Given the description of an element on the screen output the (x, y) to click on. 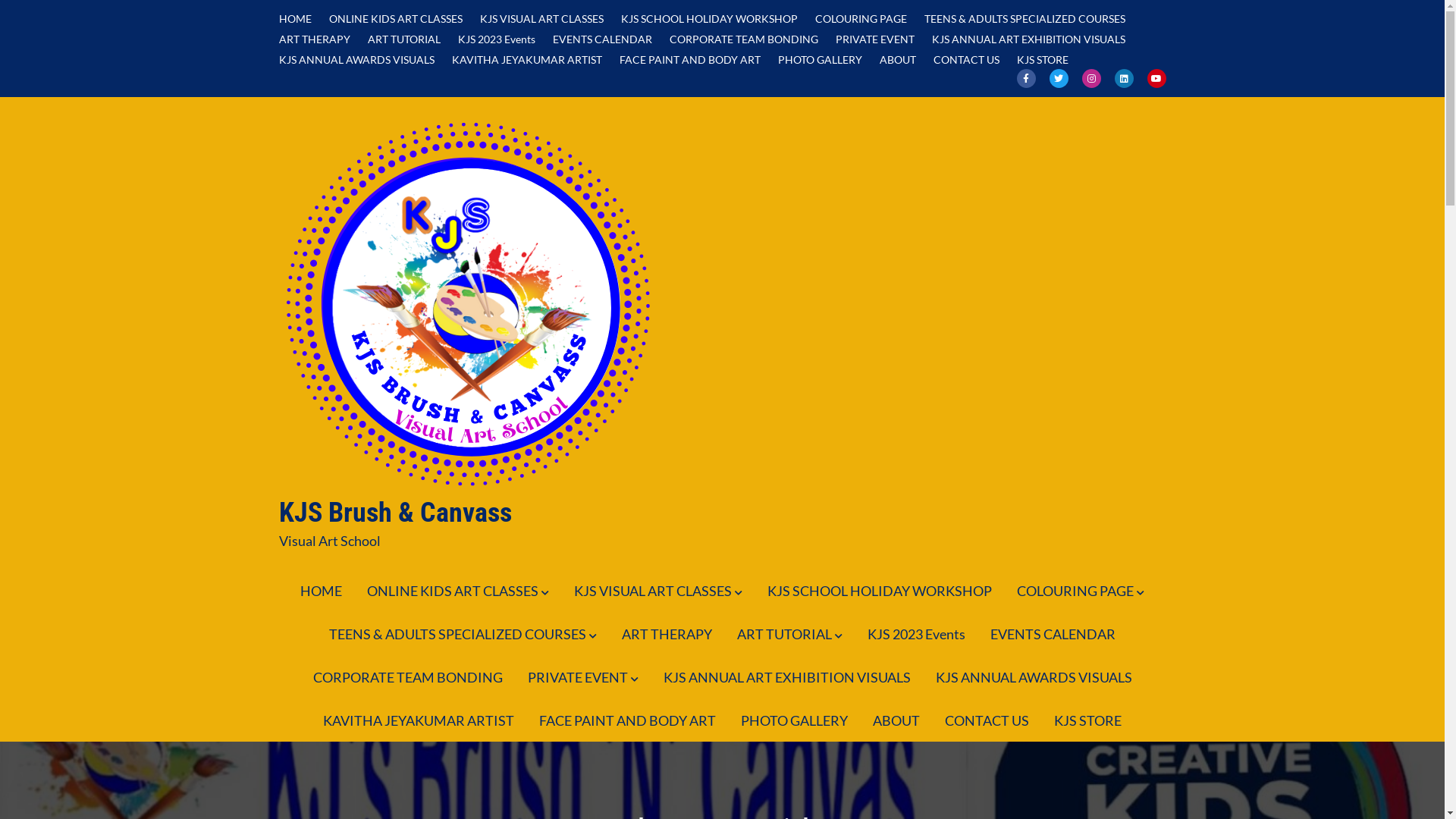
PRIVATE EVENT Element type: text (582, 677)
ART THERAPY Element type: text (666, 634)
KJS 2023 Events Element type: text (496, 39)
KJS VISUAL ART CLASSES Element type: text (657, 591)
HOME Element type: text (295, 18)
COLOURING PAGE Element type: text (860, 18)
KJS VISUAL ART CLASSES Element type: text (540, 18)
KJS ANNUAL AWARDS VISUALS Element type: text (356, 59)
KAVITHA JEYAKUMAR ARTIST Element type: text (418, 720)
PHOTO GALLERY Element type: text (820, 59)
KJS ANNUAL ART EXHIBITION VISUALS Element type: text (1027, 39)
FACE PAINT AND BODY ART Element type: text (688, 59)
CONTACT US Element type: text (986, 720)
KJS SCHOOL HOLIDAY WORKSHOP Element type: text (708, 18)
TEENS & ADULTS SPECIALIZED COURSES Element type: text (462, 634)
KJS ANNUAL AWARDS VISUALS Element type: text (1032, 677)
KJS Brush & Canvass Element type: text (395, 512)
COLOURING PAGE Element type: text (1080, 591)
KAVITHA JEYAKUMAR ARTIST Element type: text (526, 59)
KJS ANNUAL ART EXHIBITION VISUALS Element type: text (787, 677)
TEENS & ADULTS SPECIALIZED COURSES Element type: text (1023, 18)
CONTACT US Element type: text (965, 59)
ABOUT Element type: text (896, 720)
ONLINE KIDS ART CLASSES Element type: text (395, 18)
EVENTS CALENDAR Element type: text (601, 39)
Skip to content Element type: text (0, 0)
ART TUTORIAL Element type: text (403, 39)
FACE PAINT AND BODY ART Element type: text (627, 720)
ART THERAPY Element type: text (314, 39)
ONLINE KIDS ART CLASSES Element type: text (457, 591)
CORPORATE TEAM BONDING Element type: text (407, 677)
PHOTO GALLERY Element type: text (794, 720)
KJS STORE Element type: text (1087, 720)
HOME Element type: text (320, 590)
CORPORATE TEAM BONDING Element type: text (742, 39)
ART TUTORIAL Element type: text (789, 634)
EVENTS CALENDAR Element type: text (1052, 634)
KJS STORE Element type: text (1041, 59)
ABOUT Element type: text (897, 59)
KJS SCHOOL HOLIDAY WORKSHOP Element type: text (879, 590)
PRIVATE EVENT Element type: text (874, 39)
KJS 2023 Events Element type: text (916, 634)
